Given the description of an element on the screen output the (x, y) to click on. 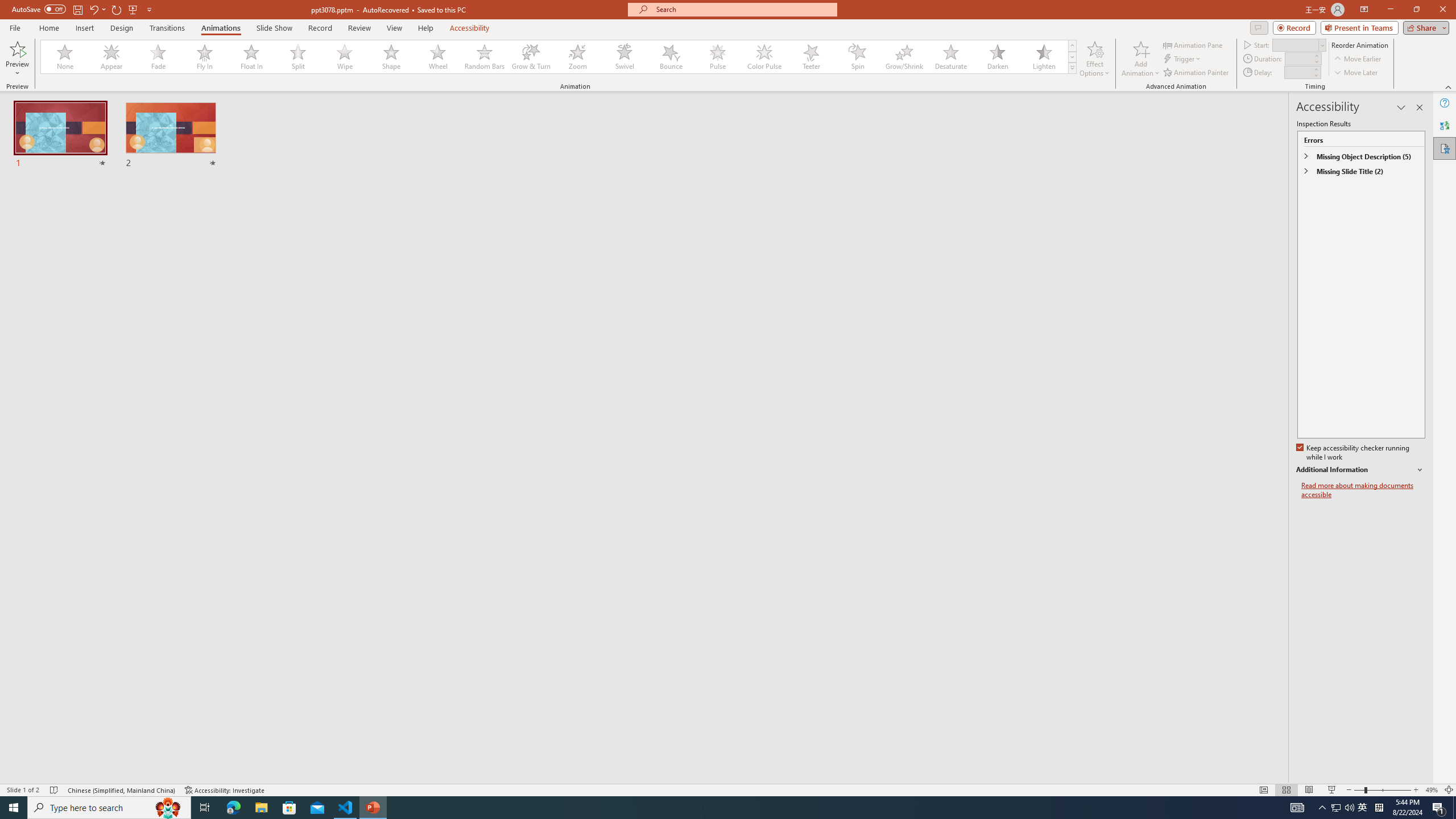
Wheel (437, 56)
Additional Information (1360, 469)
Darken (997, 56)
Move Earlier (1357, 58)
